Given the description of an element on the screen output the (x, y) to click on. 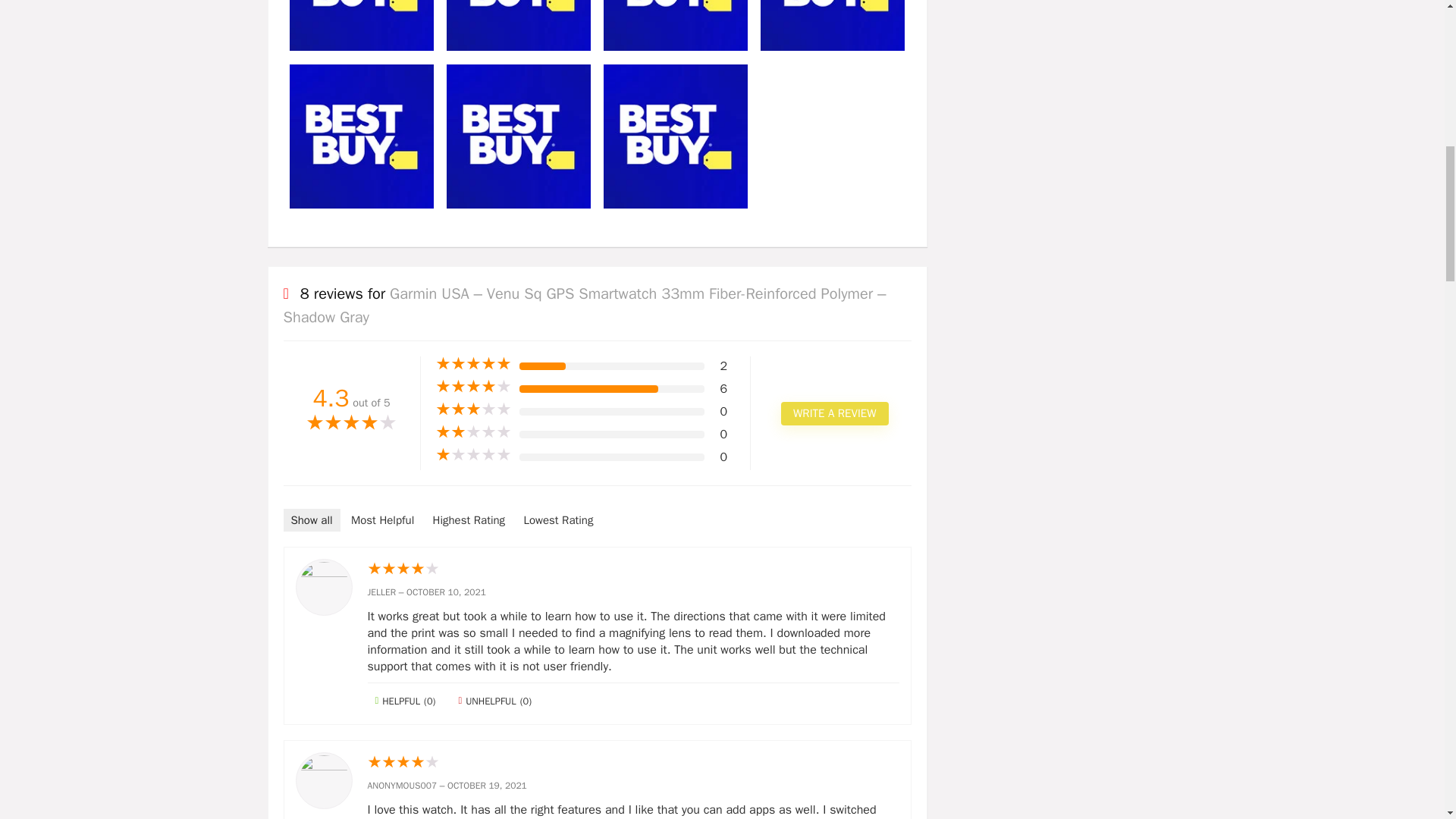
Rated 4 out of 5 (473, 386)
Rated 4 out of 5 (632, 568)
WRITE A REVIEW (834, 413)
Rated 5 out of 5 (473, 363)
Rated 1 out of 5 (473, 454)
Rated 2 out of 5 (473, 432)
Rated 4 out of 5 (632, 762)
Rated 4.3 out of 5 (351, 423)
Rated 3 out of 5 (473, 409)
